Given the description of an element on the screen output the (x, y) to click on. 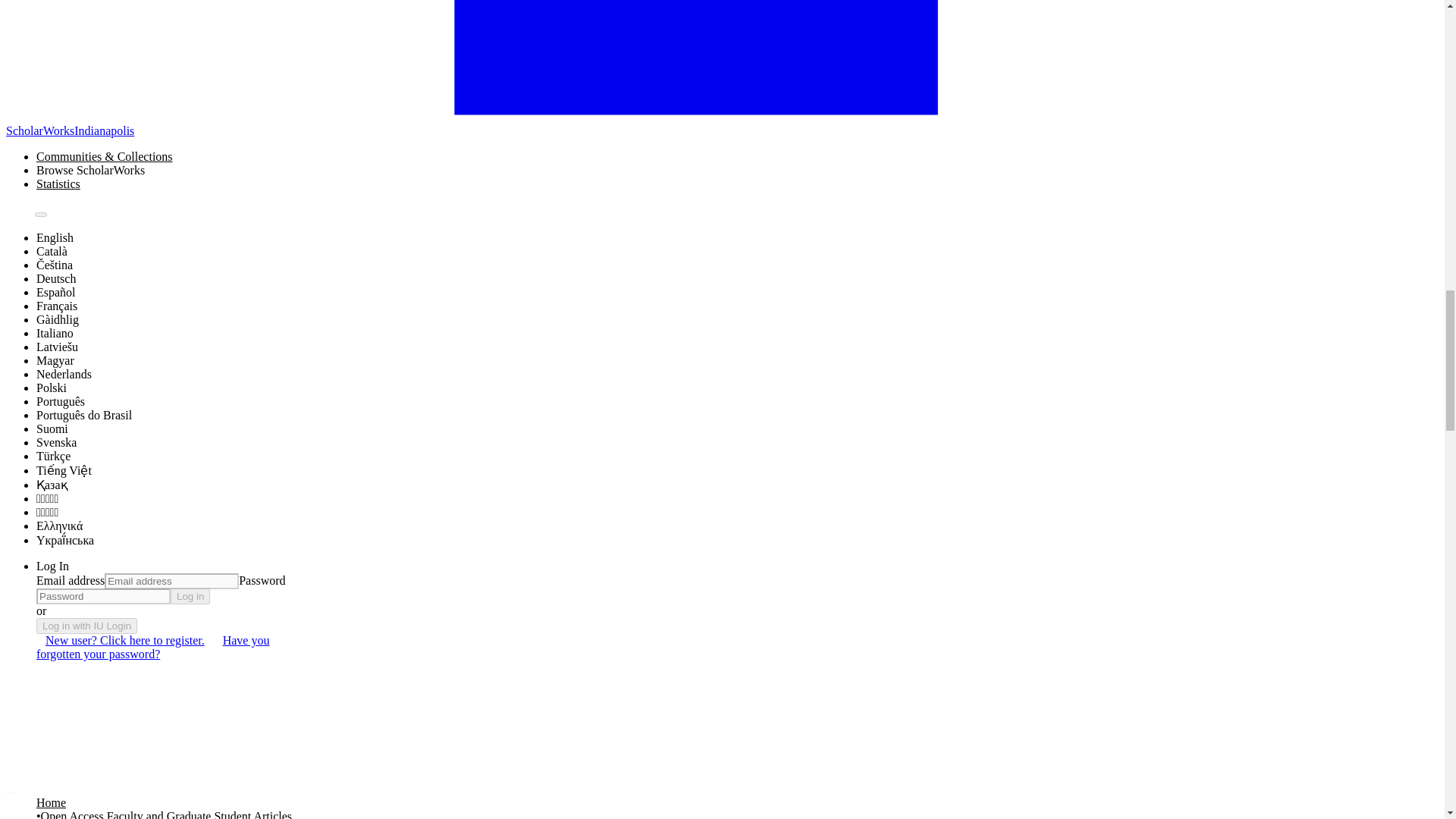
Log in (189, 596)
Statistics (58, 183)
Have you forgotten your password? (152, 646)
Home (50, 802)
Log in with IU Login (86, 625)
Statistics (58, 183)
Open Access Faculty and Graduate Student Articles (166, 814)
Log In (52, 565)
New user? Click here to register. (125, 640)
Browse ScholarWorks (104, 170)
